Given the description of an element on the screen output the (x, y) to click on. 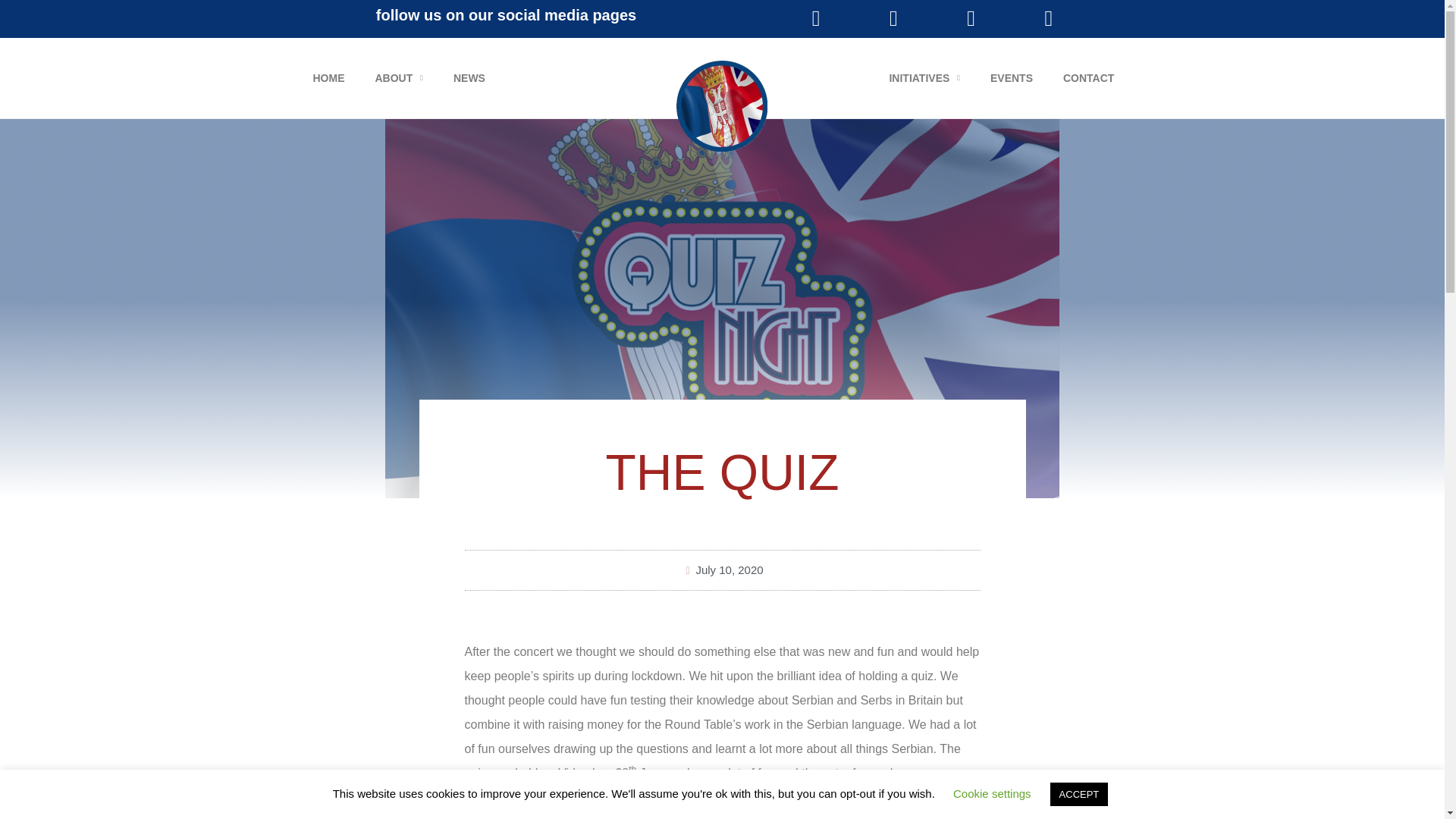
ABOUT (398, 77)
HOME (328, 77)
NEWS (469, 77)
